Given the description of an element on the screen output the (x, y) to click on. 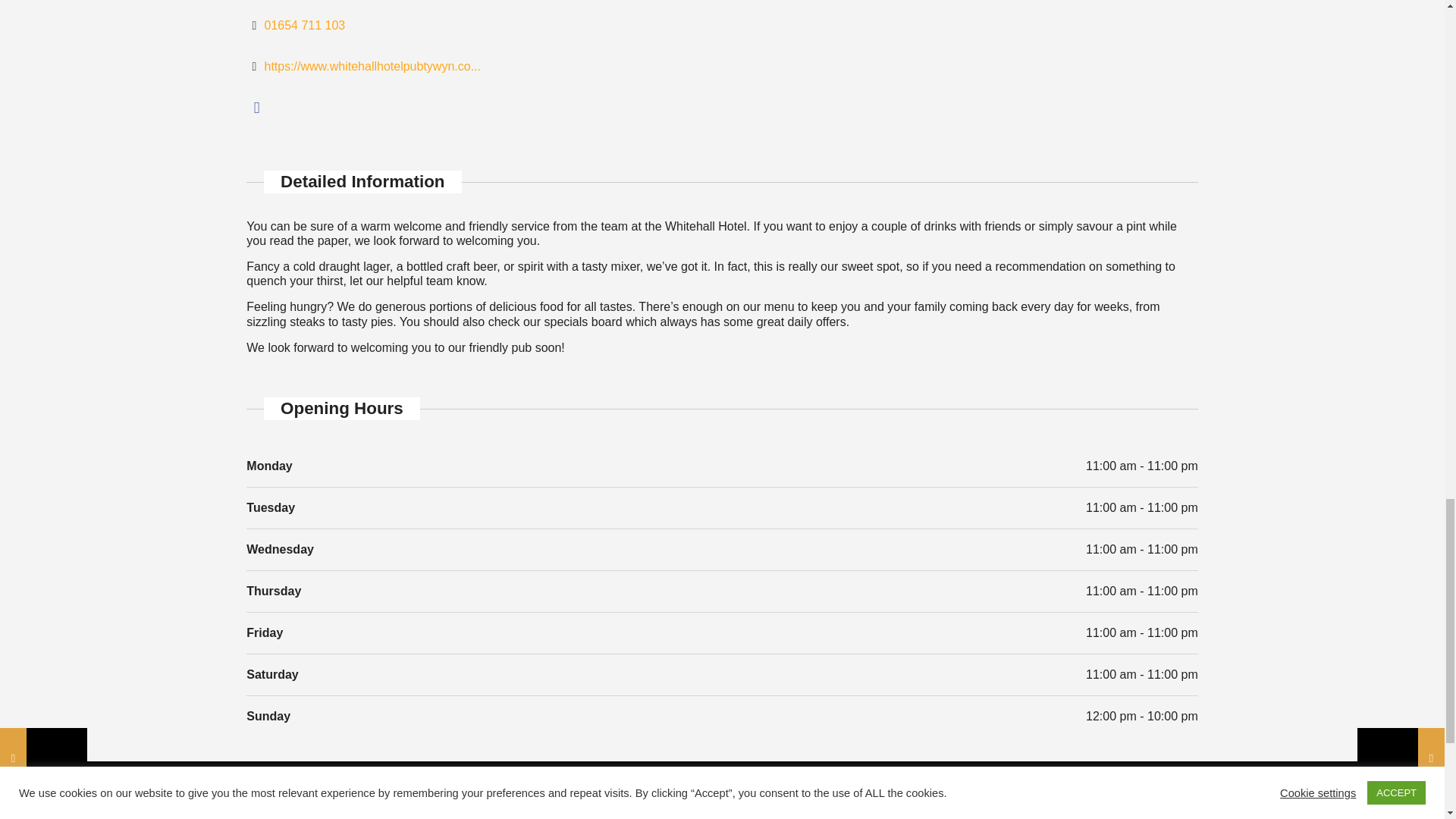
01654 711 103 (304, 24)
Facebook (256, 106)
